Given the description of an element on the screen output the (x, y) to click on. 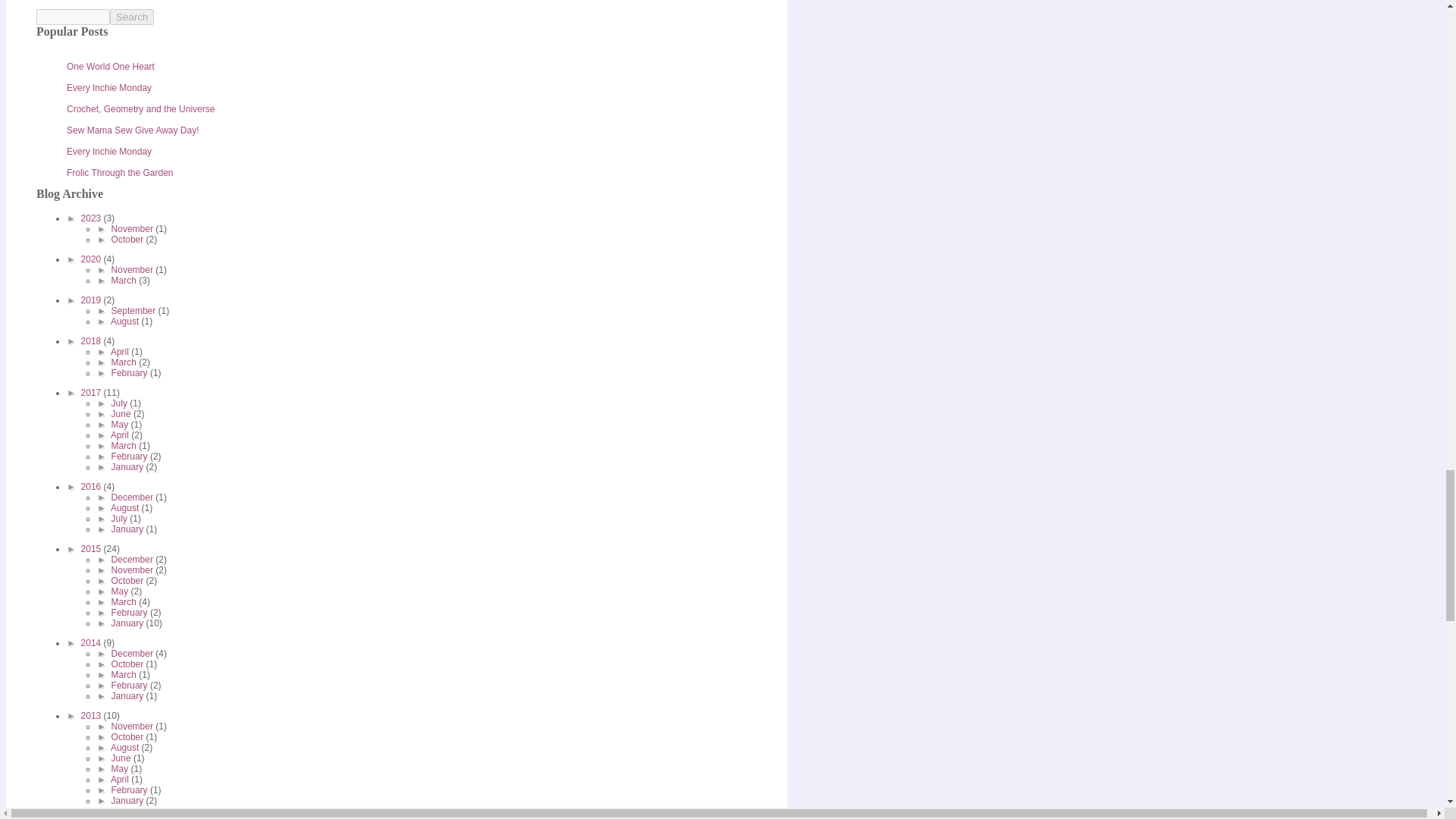
Search (132, 17)
Search (132, 17)
